Given the description of an element on the screen output the (x, y) to click on. 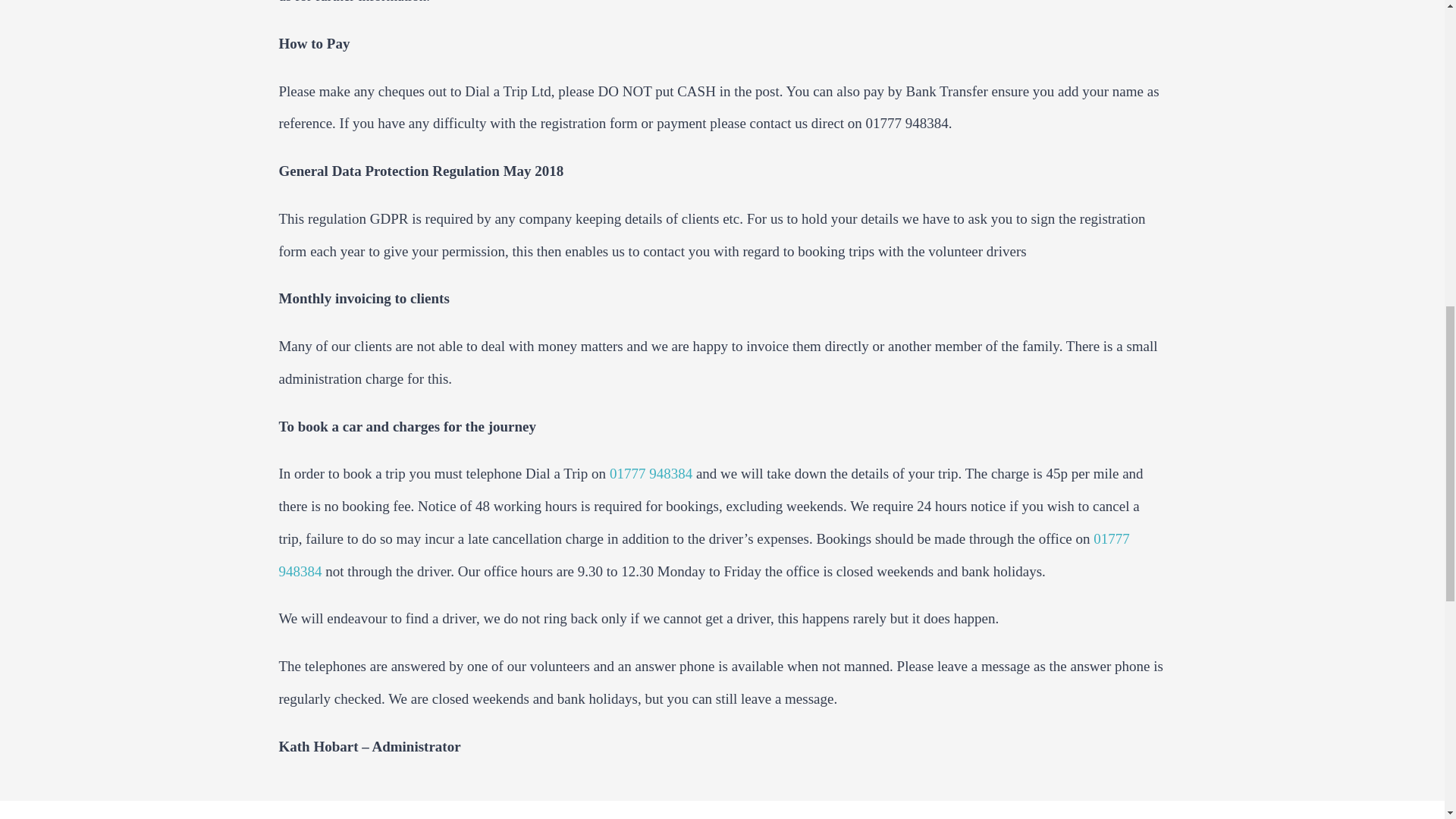
01777 948384 (703, 554)
01777 948384 (651, 473)
